Given the description of an element on the screen output the (x, y) to click on. 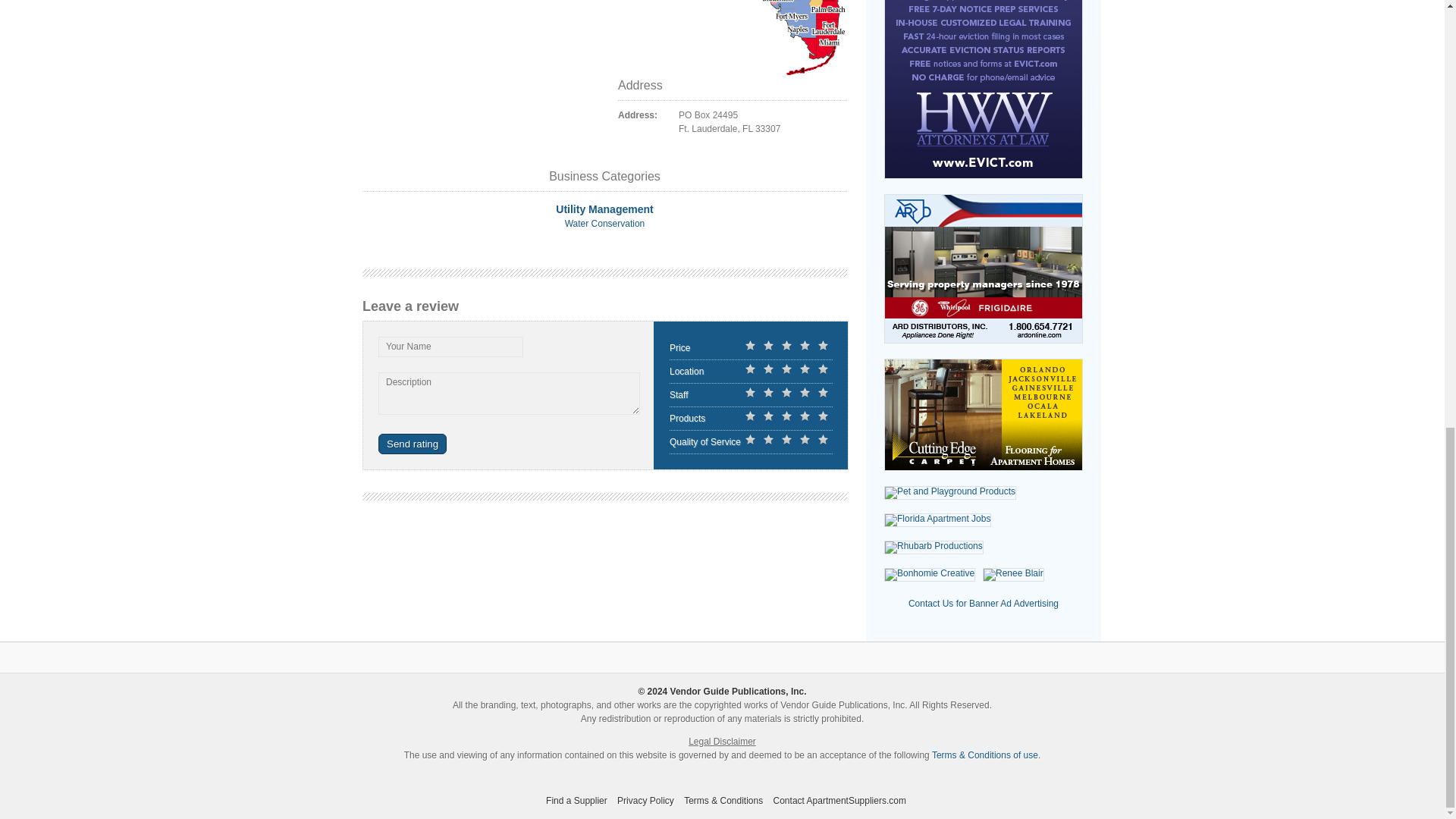
Contact Us for Banner Ad Advertising (983, 603)
Send rating (412, 444)
Utility Management (604, 209)
Water Conservation (604, 223)
